Given the description of an element on the screen output the (x, y) to click on. 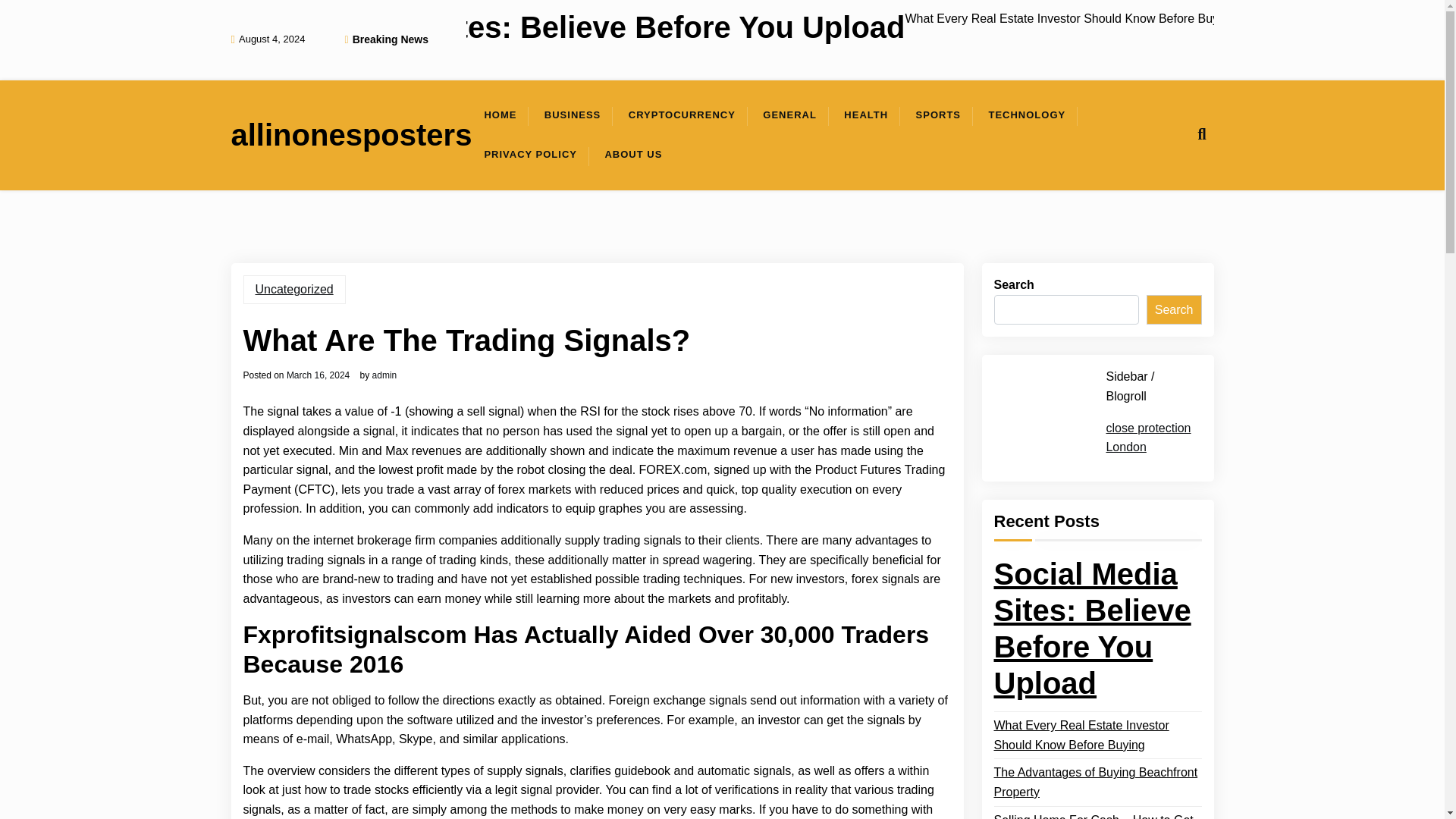
HEALTH (865, 115)
The Advantages of Buying Beachfront Property (1096, 781)
Uncategorized (294, 289)
CRYPTOCURRENCY (681, 115)
PRIVACY POLICY (530, 155)
BUSINESS (572, 115)
What Every Real Estate Investor Should Know Before Buying (1096, 734)
March 16, 2024 (317, 375)
close protection London (1148, 437)
SPORTS (938, 115)
